Given the description of an element on the screen output the (x, y) to click on. 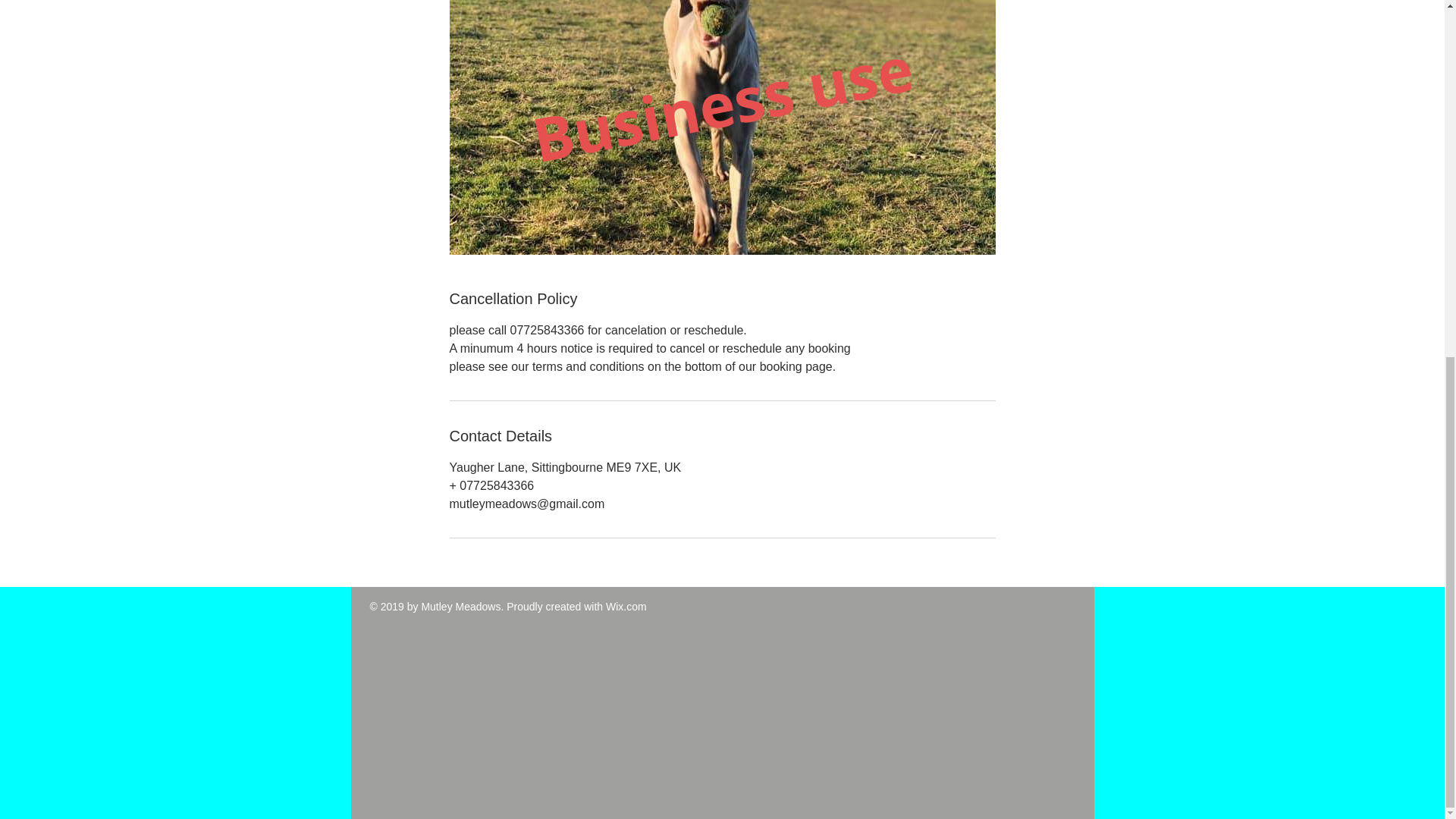
Wix.com (625, 606)
